Given the description of an element on the screen output the (x, y) to click on. 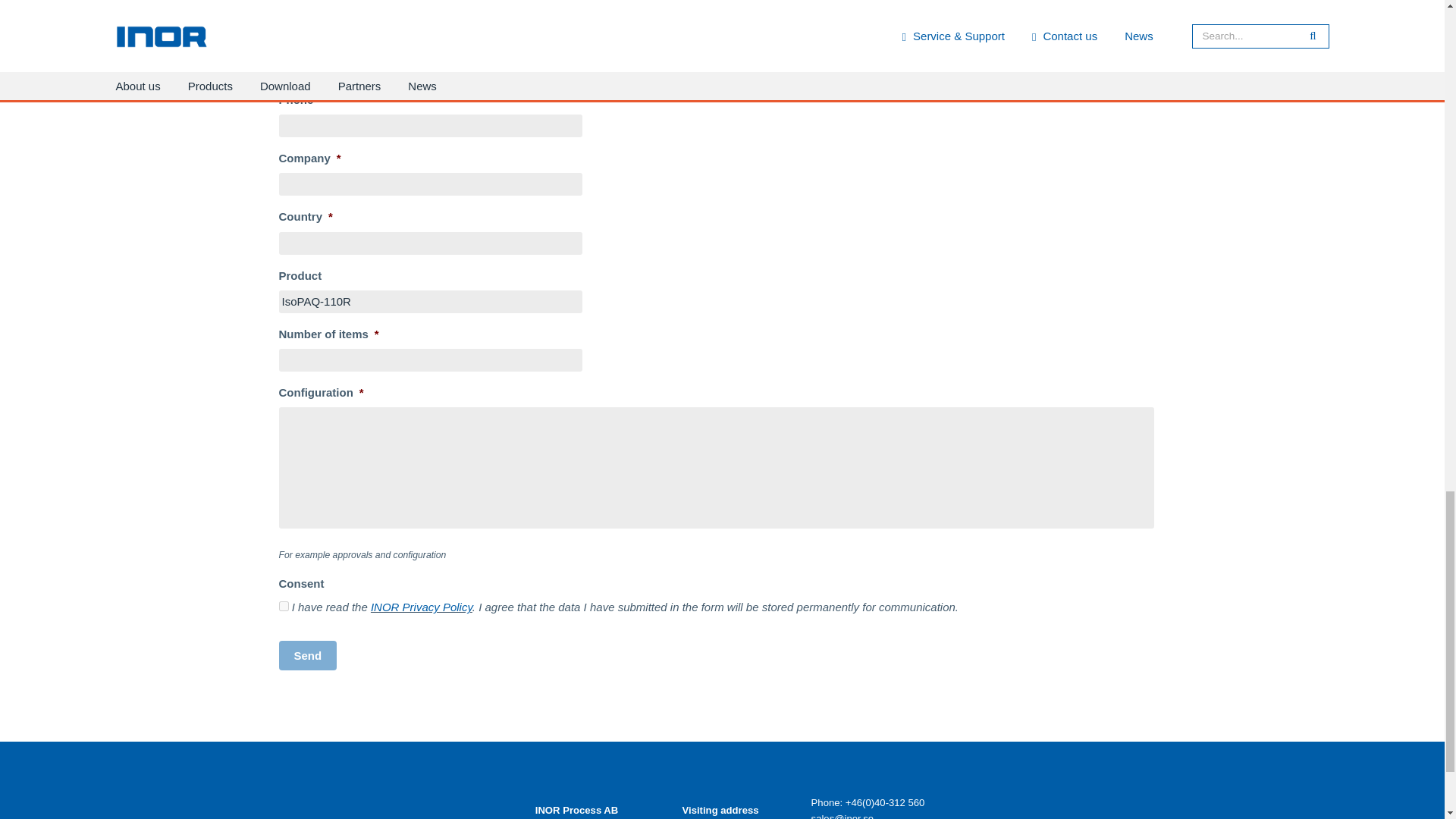
IsoPAQ-110R (430, 301)
1 (283, 605)
Send (308, 655)
